Given the description of an element on the screen output the (x, y) to click on. 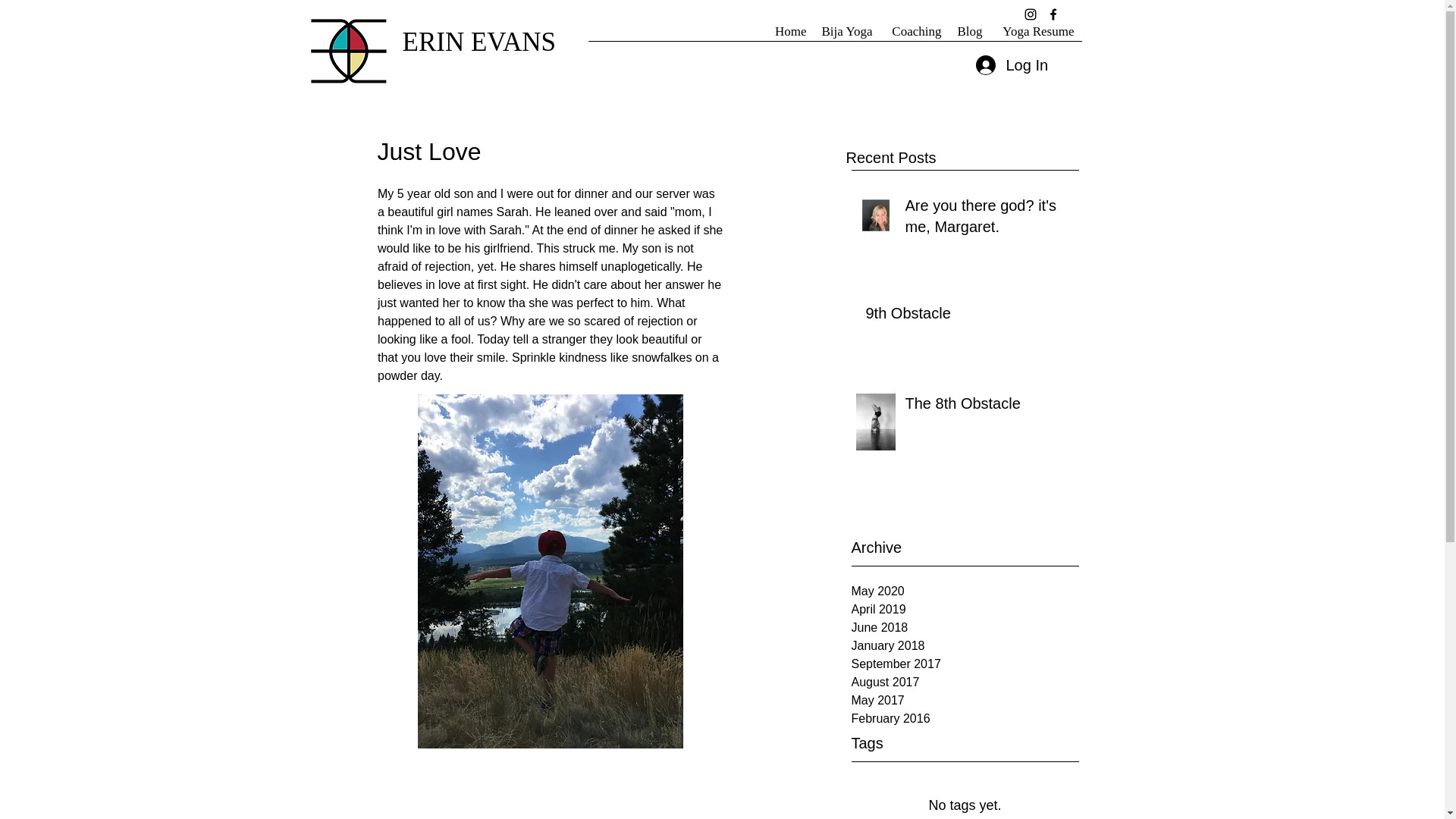
May 2020 (964, 591)
June 2018 (964, 628)
May 2017 (964, 700)
January 2018 (964, 646)
Bija Yoga (846, 36)
Yoga Resume (1035, 36)
9th Obstacle (965, 316)
Log In (1009, 65)
Coaching (914, 36)
Home (788, 36)
